Given the description of an element on the screen output the (x, y) to click on. 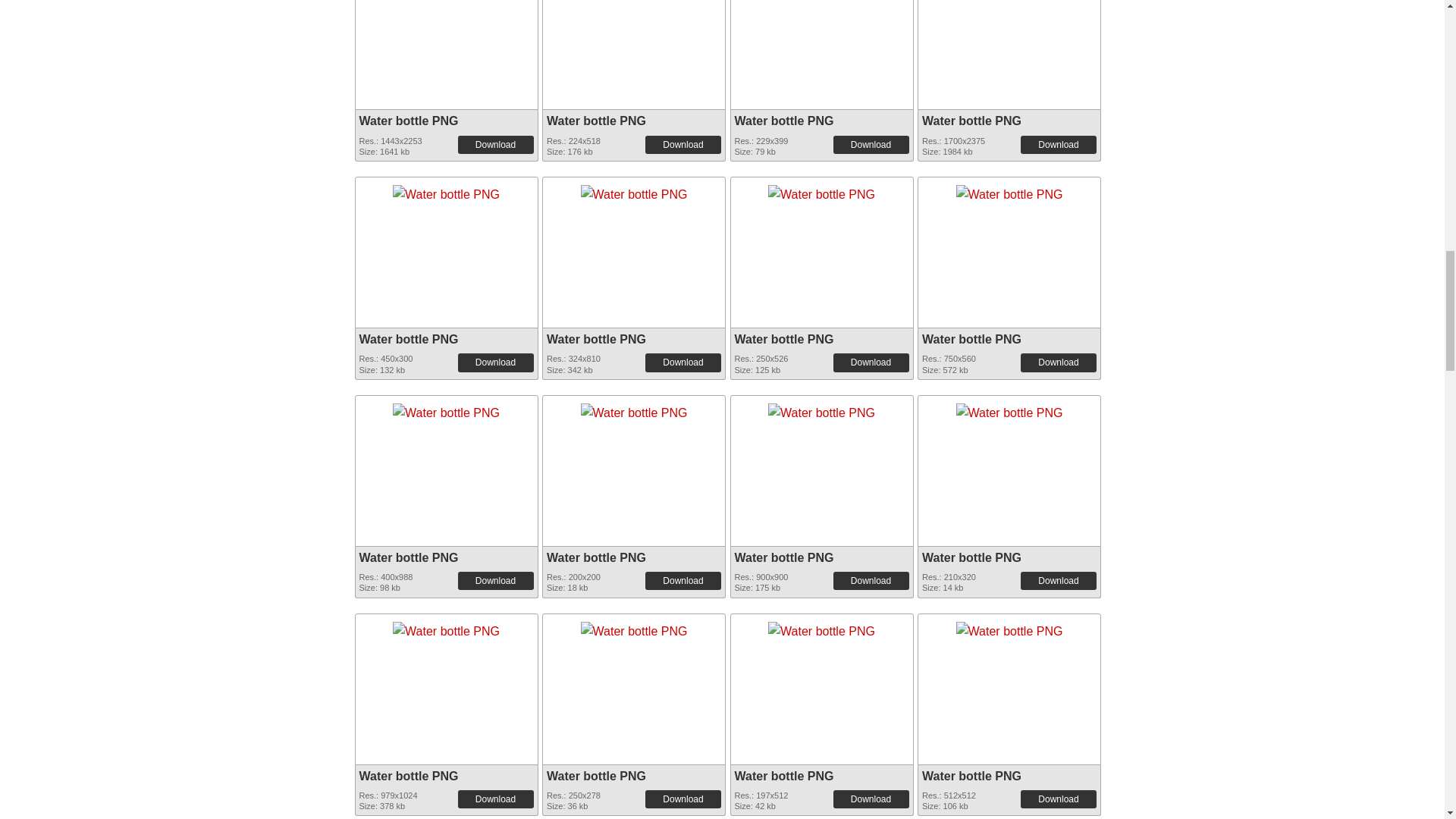
Water bottle PNG (446, 189)
Water bottle PNG (446, 190)
Download (496, 144)
Water bottle PNG (408, 120)
Water bottle PNG (633, 189)
